Given the description of an element on the screen output the (x, y) to click on. 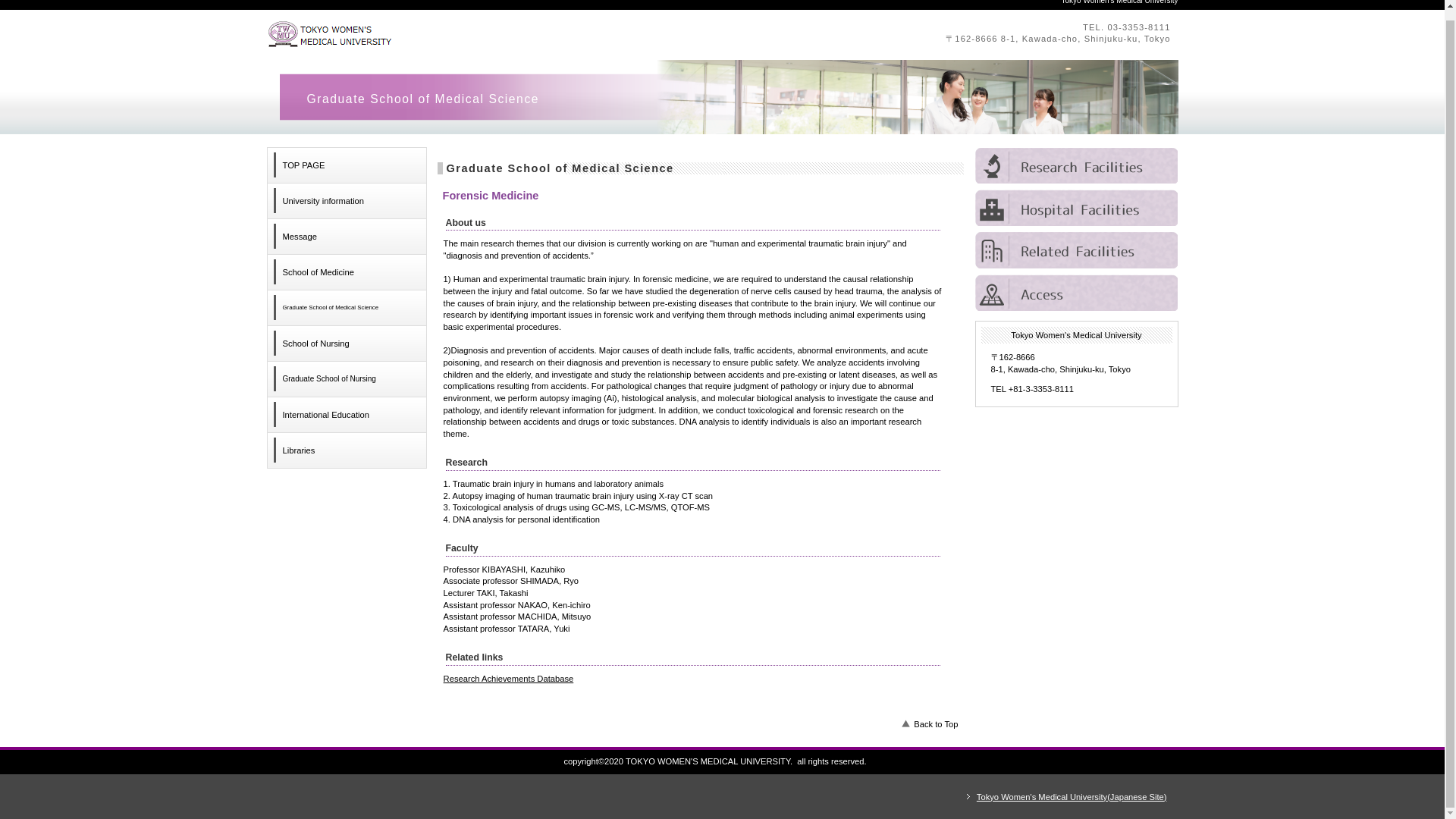
Related Facilities (1076, 249)
Research Achievements Database (508, 678)
Tokyo Women's Medical University (475, 33)
TOP PAGE (345, 165)
Message (345, 236)
School of Nursing (345, 343)
School of Medicine (345, 271)
Libraries (345, 450)
University information (345, 200)
International Education (345, 414)
